Given the description of an element on the screen output the (x, y) to click on. 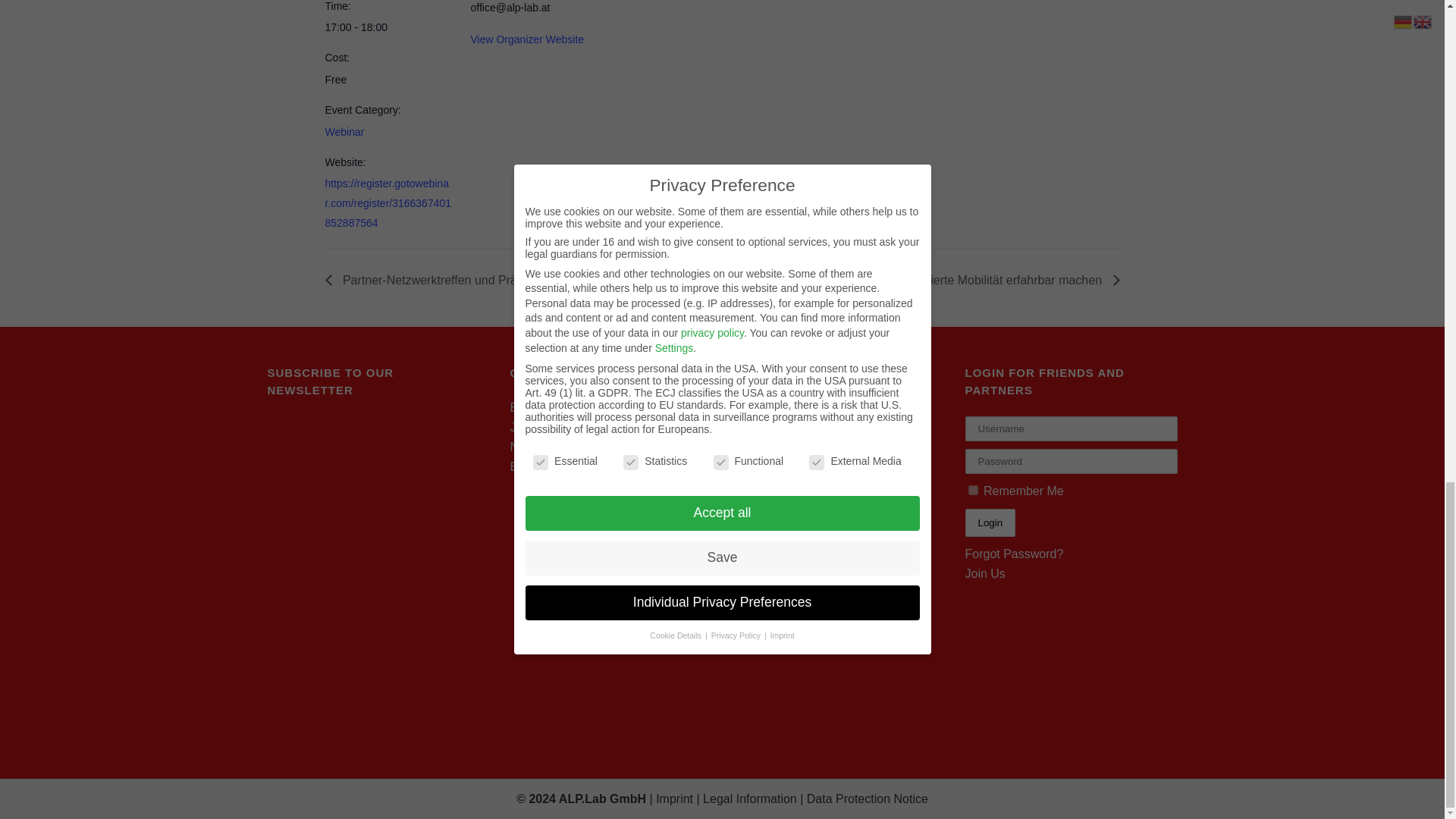
2021-04-13 (387, 26)
